Given the description of an element on the screen output the (x, y) to click on. 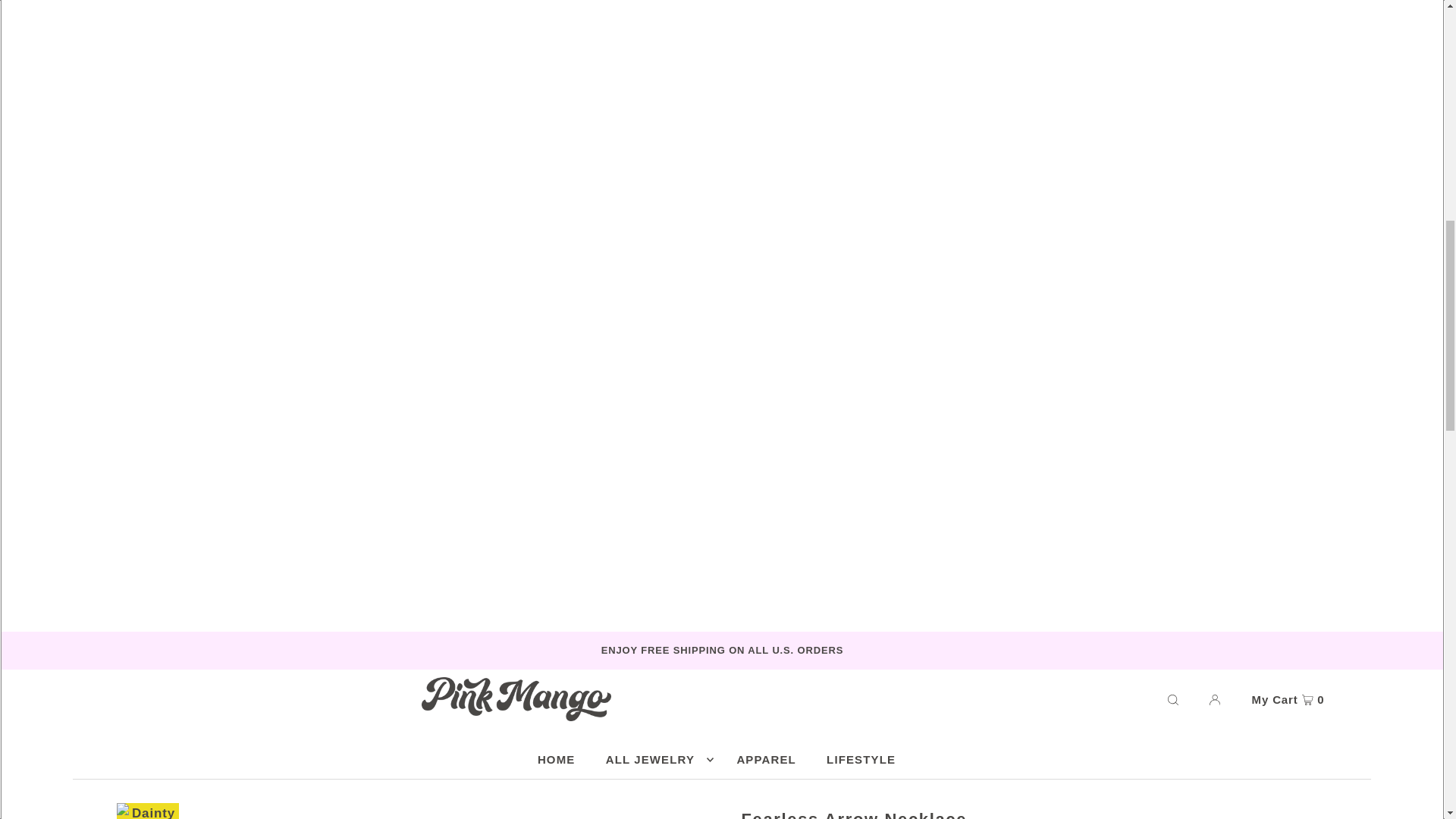
HOME (556, 759)
APPAREL (766, 759)
LIFESTYLE (860, 759)
ALL JEWELRY (655, 759)
